Given the description of an element on the screen output the (x, y) to click on. 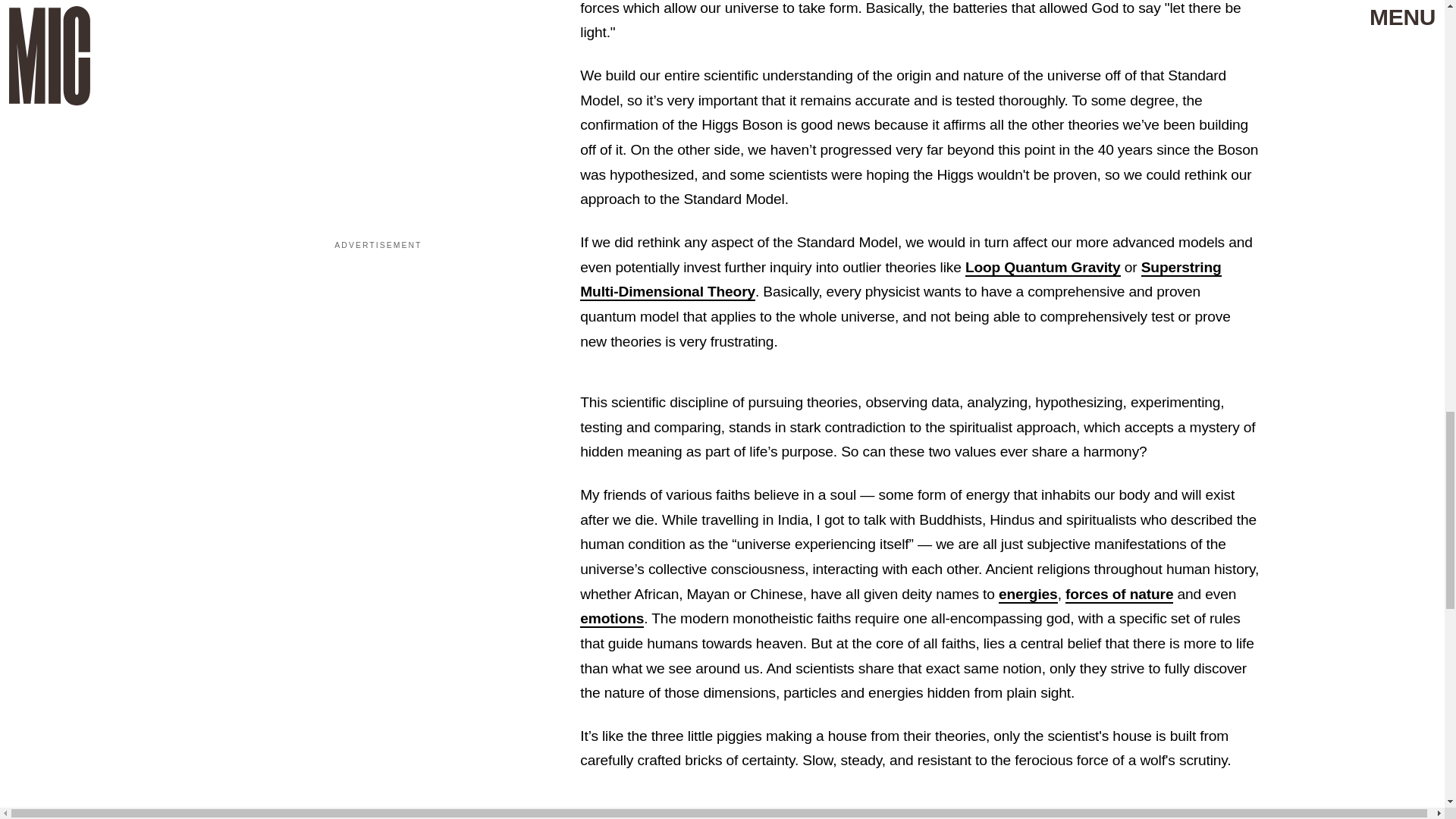
Loop Quantum Gravity (1043, 267)
forces of nature (1119, 594)
emotions (611, 619)
energies (1028, 594)
Superstring Multi-Dimensional Theory (900, 280)
